Given the description of an element on the screen output the (x, y) to click on. 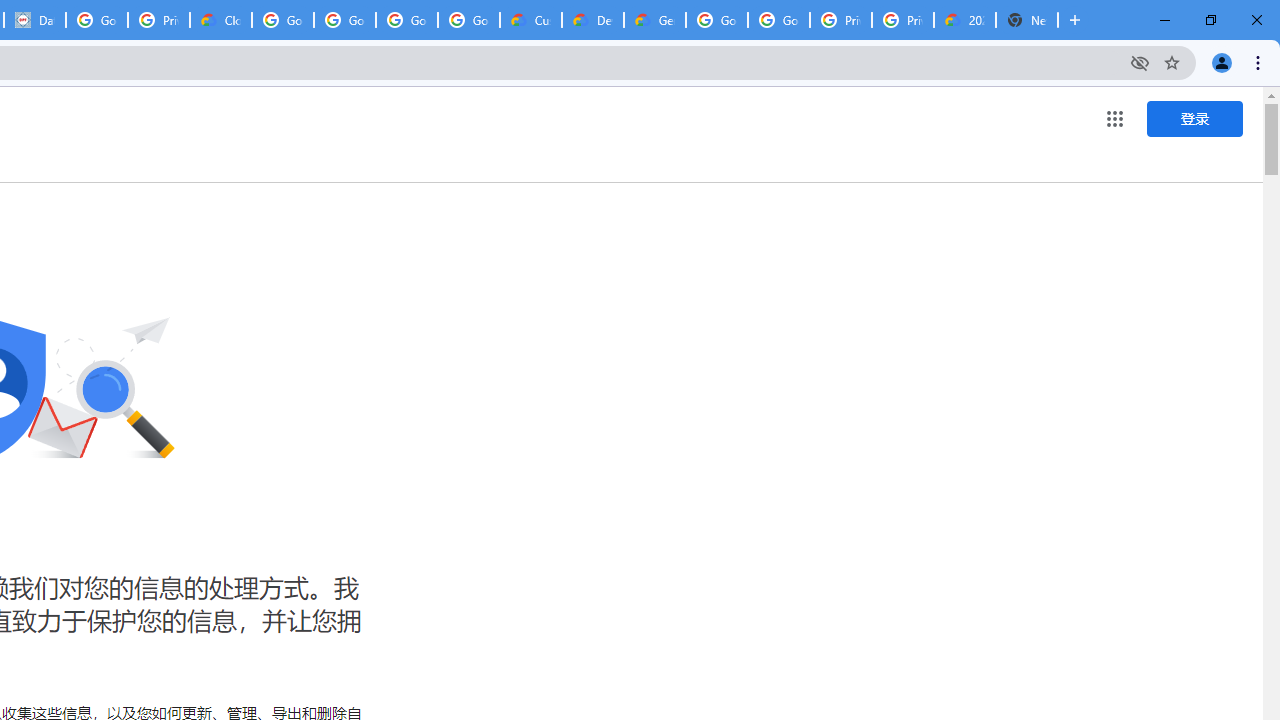
Cloud Data Processing Addendum | Google Cloud (220, 20)
Google Cloud Platform (778, 20)
New Tab (1026, 20)
Google Cloud Platform (716, 20)
Customer Care | Google Cloud (530, 20)
